Given the description of an element on the screen output the (x, y) to click on. 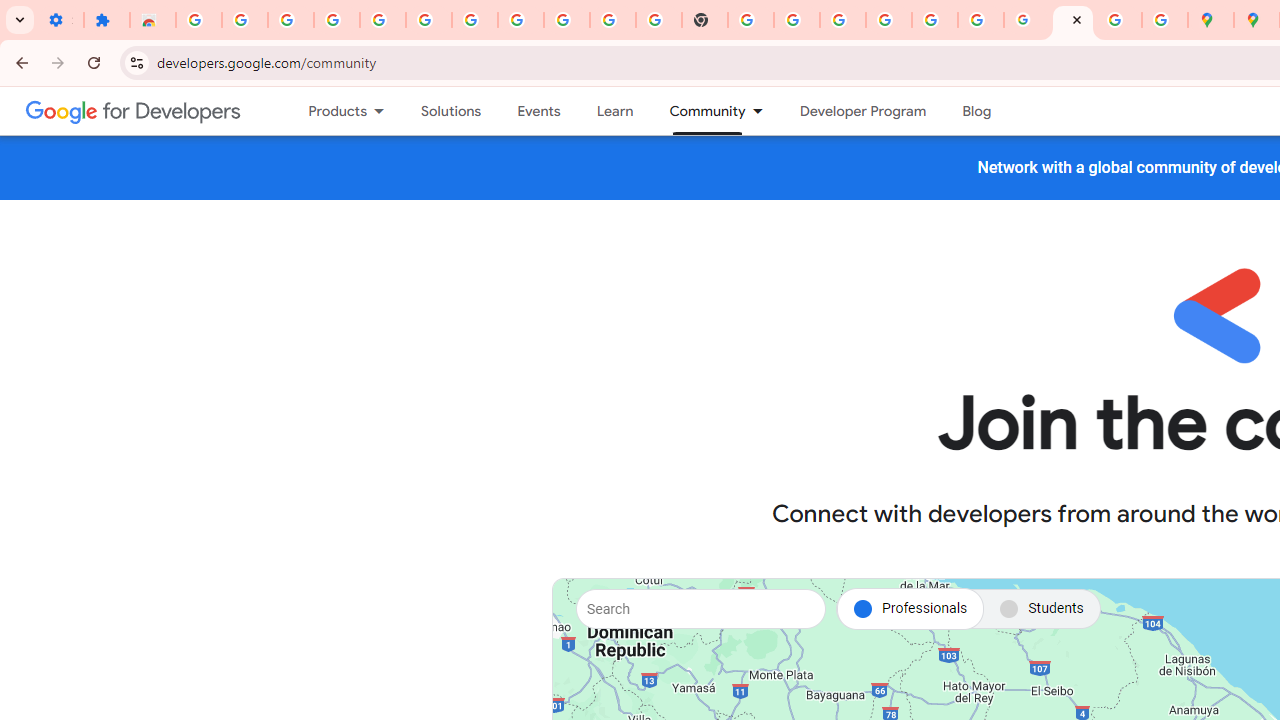
Learn how to find your photos - Google Photos Help (382, 20)
Products (329, 111)
Dropdown menu for Community (763, 111)
New Tab (705, 20)
Reviews: Helix Fruit Jump Arcade Game (153, 20)
https://scholar.google.com/ (751, 20)
